Given the description of an element on the screen output the (x, y) to click on. 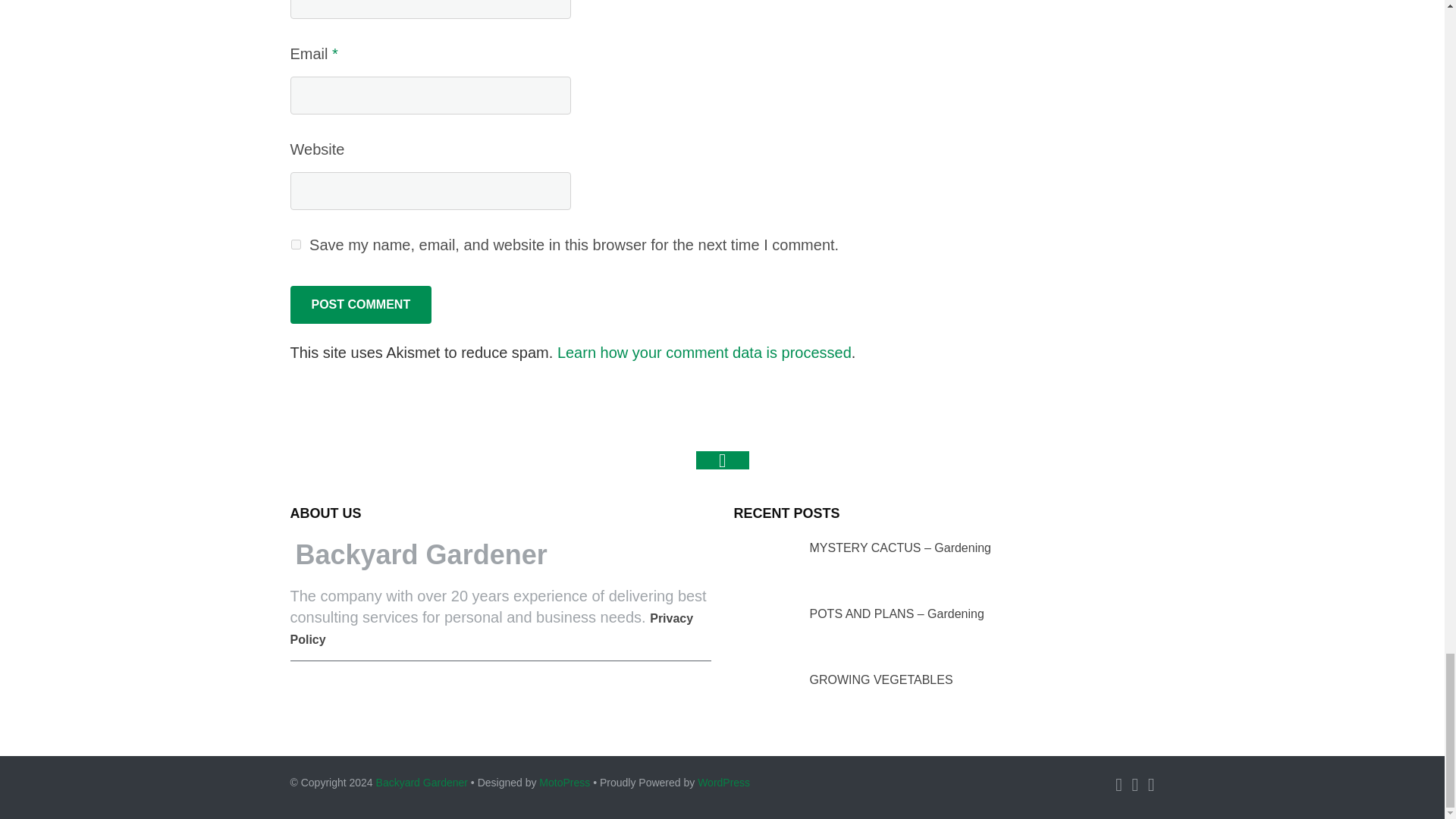
Post Comment (359, 304)
Premium WordPress Plugins and Themes (563, 782)
GROWING  VEGETABLES (761, 695)
Semantic Personal Publishing Platform (723, 782)
Backyard Gardener (421, 782)
yes (296, 244)
